Given the description of an element on the screen output the (x, y) to click on. 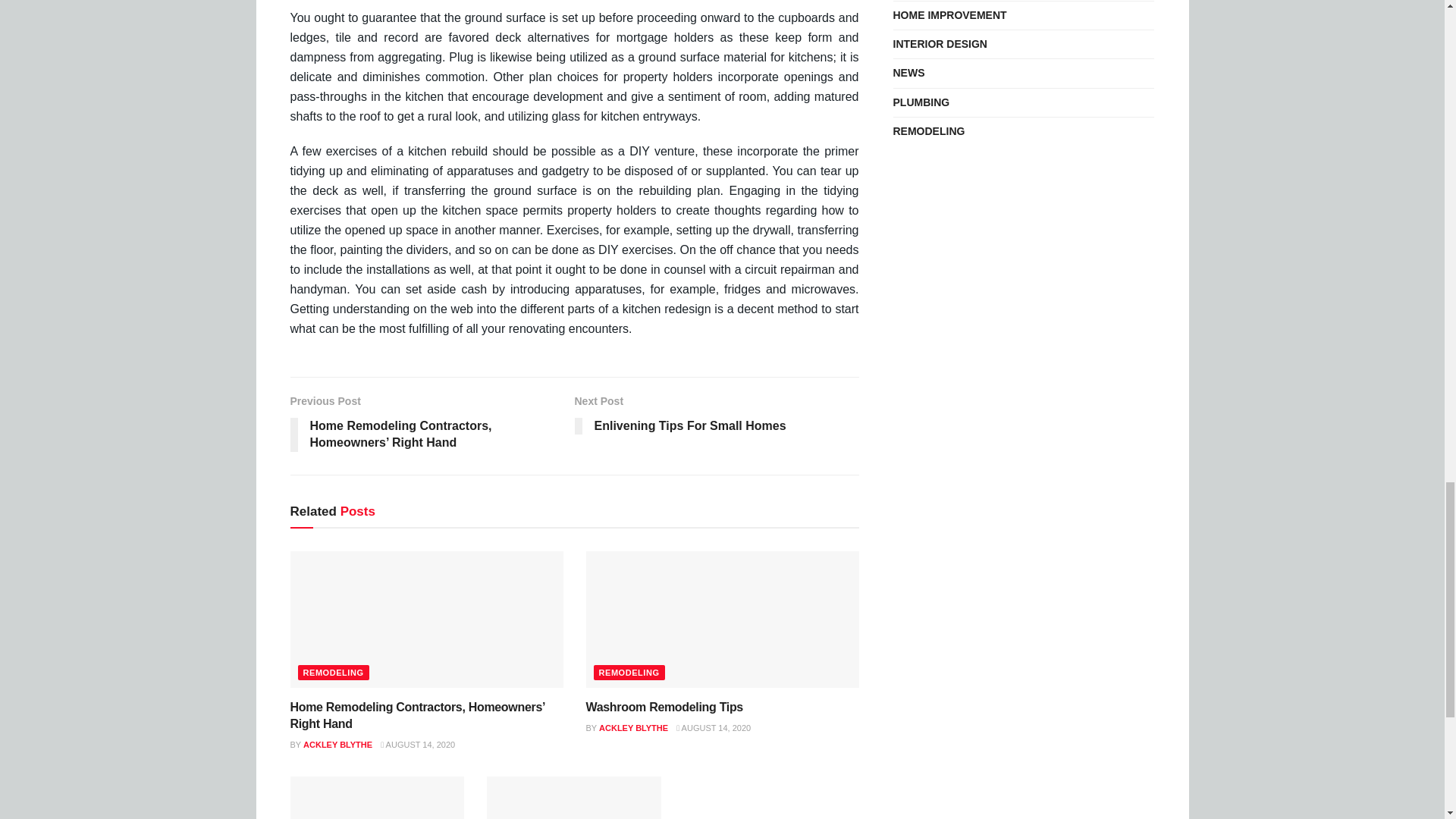
REMODELING (332, 672)
ACKLEY BLYTHE (717, 417)
